Given the description of an element on the screen output the (x, y) to click on. 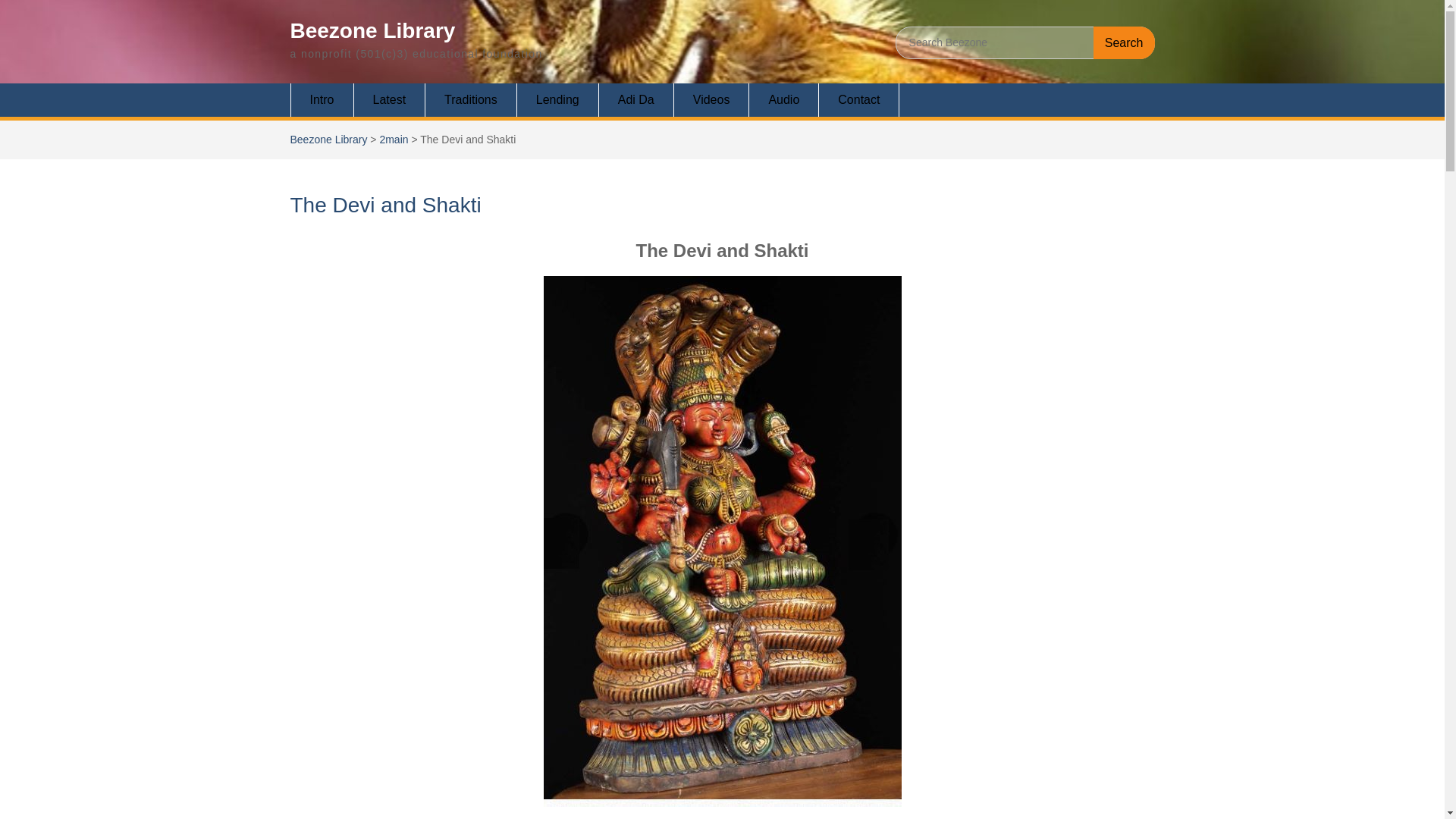
Latest (389, 100)
2main (392, 139)
Search (1123, 42)
Intro (321, 100)
Traditions (470, 100)
Audio (783, 100)
Lending (557, 100)
Search (1123, 42)
Videos (711, 100)
Contact (858, 100)
Beezone Library (371, 30)
Search (1123, 42)
Beezone Library (327, 139)
Adi Da (636, 100)
Search for: (1024, 42)
